Given the description of an element on the screen output the (x, y) to click on. 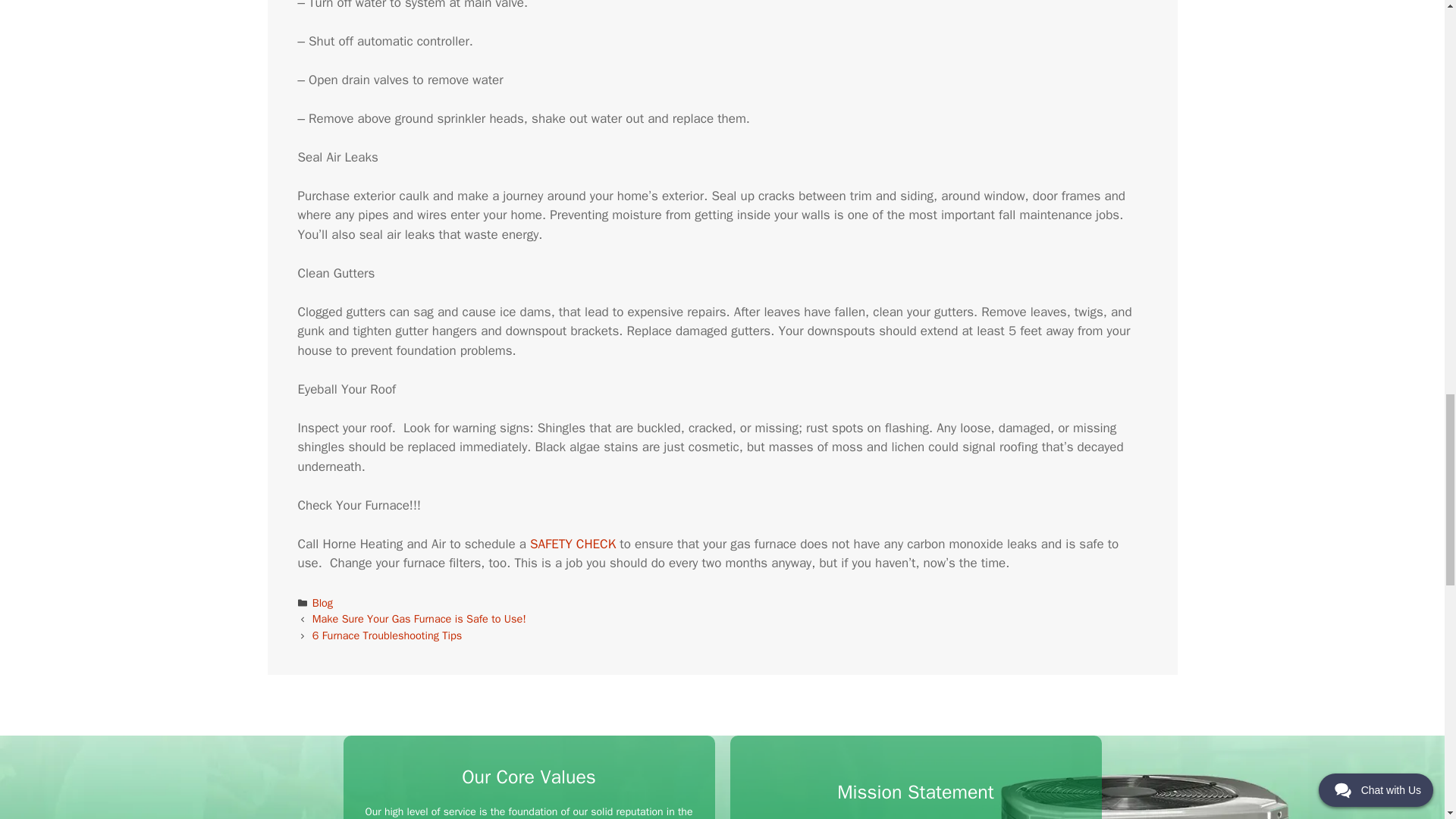
Blog (323, 602)
Make Sure Your Gas Furnace is Safe to Use! (419, 618)
6 Furnace Troubleshooting Tips (388, 635)
SAFETY CHECK (574, 544)
